Given the description of an element on the screen output the (x, y) to click on. 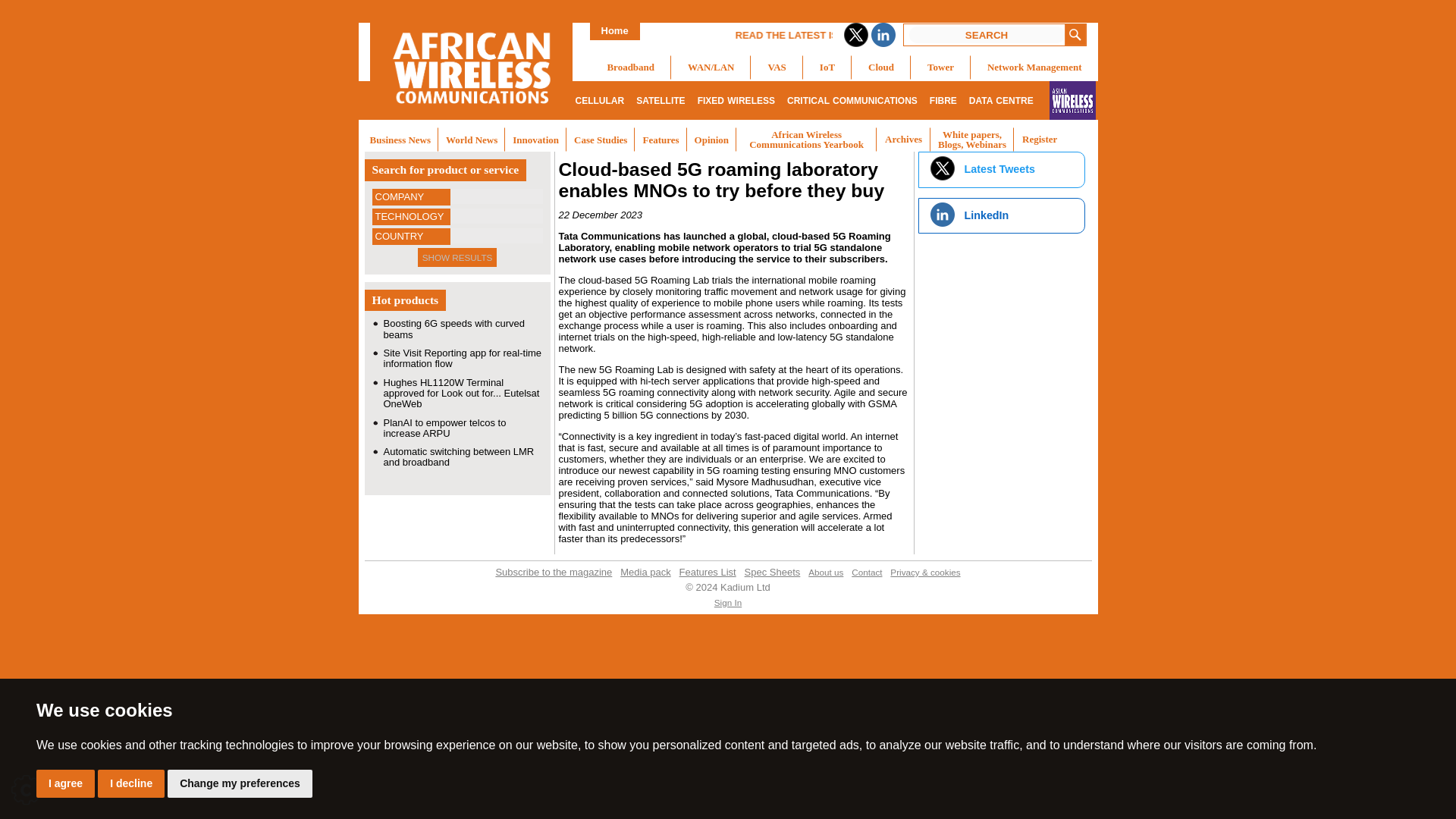
FIXED WIRELESS (735, 100)
Network Management (1034, 67)
Innovation (535, 139)
CRITICAL COMMUNICATIONS (851, 100)
Case Studies (600, 139)
Features (659, 139)
African Wireless Communications Yearbook (806, 139)
World News (471, 139)
READ THE LATEST ISSUE HERE (904, 34)
Opinion (711, 139)
